Given the description of an element on the screen output the (x, y) to click on. 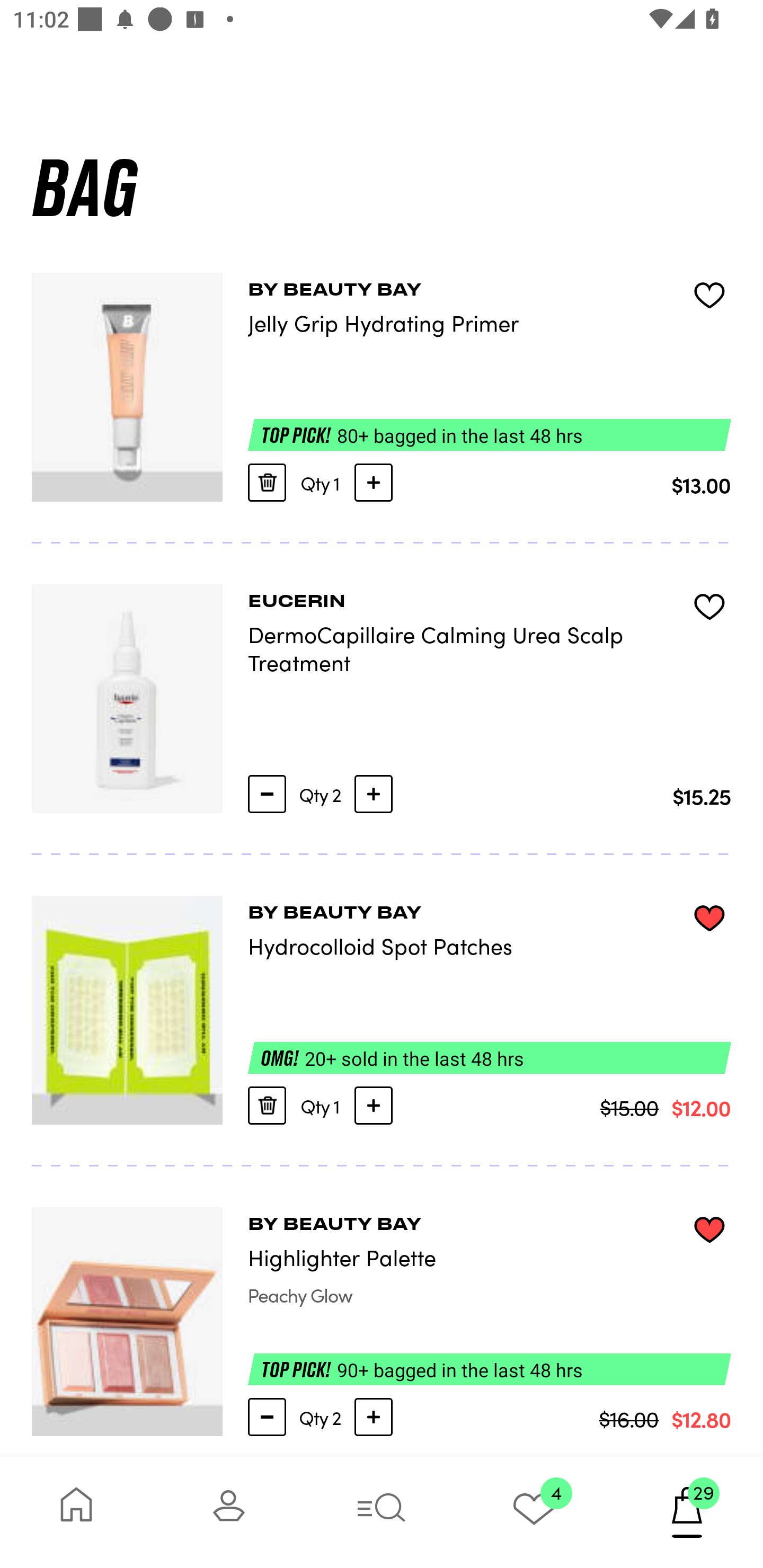
4 (533, 1512)
29 (686, 1512)
